Given the description of an element on the screen output the (x, y) to click on. 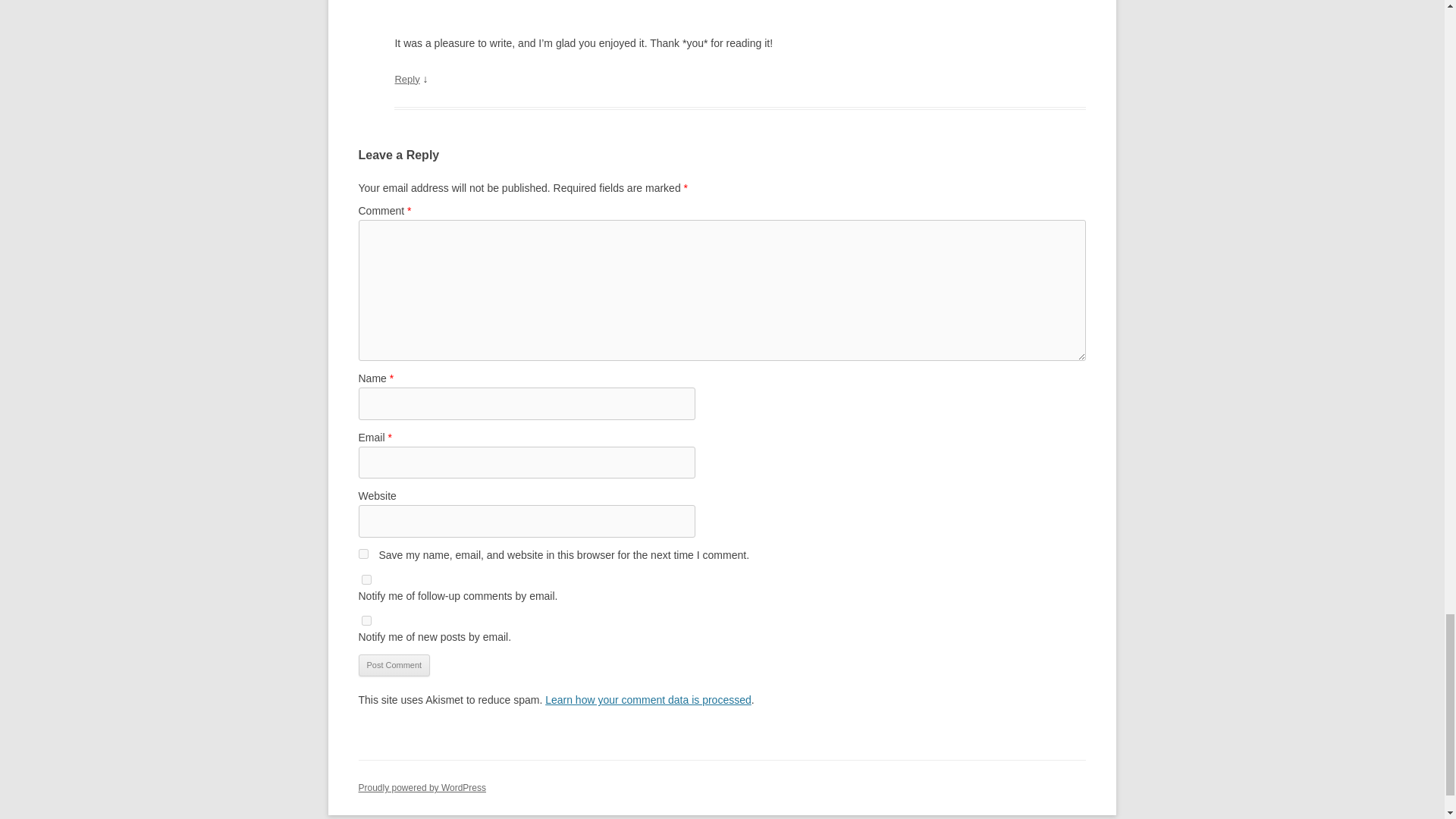
Post Comment (393, 665)
Semantic Personal Publishing Platform (422, 787)
subscribe (366, 620)
Learn how your comment data is processed (647, 699)
Proudly powered by WordPress (422, 787)
subscribe (366, 579)
Post Comment (393, 665)
Reply (406, 79)
yes (363, 553)
